Given the description of an element on the screen output the (x, y) to click on. 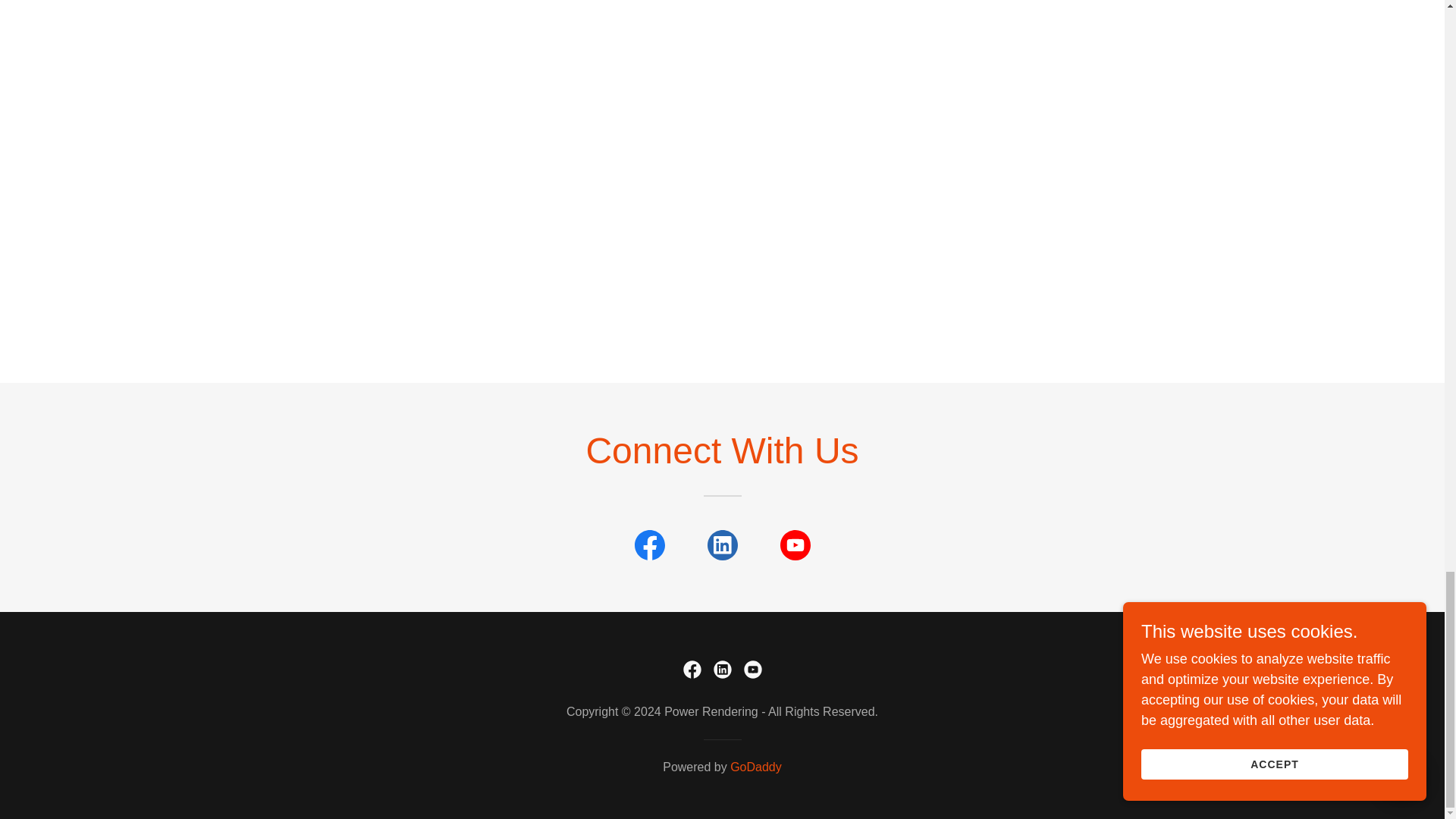
GoDaddy (755, 766)
